Given the description of an element on the screen output the (x, y) to click on. 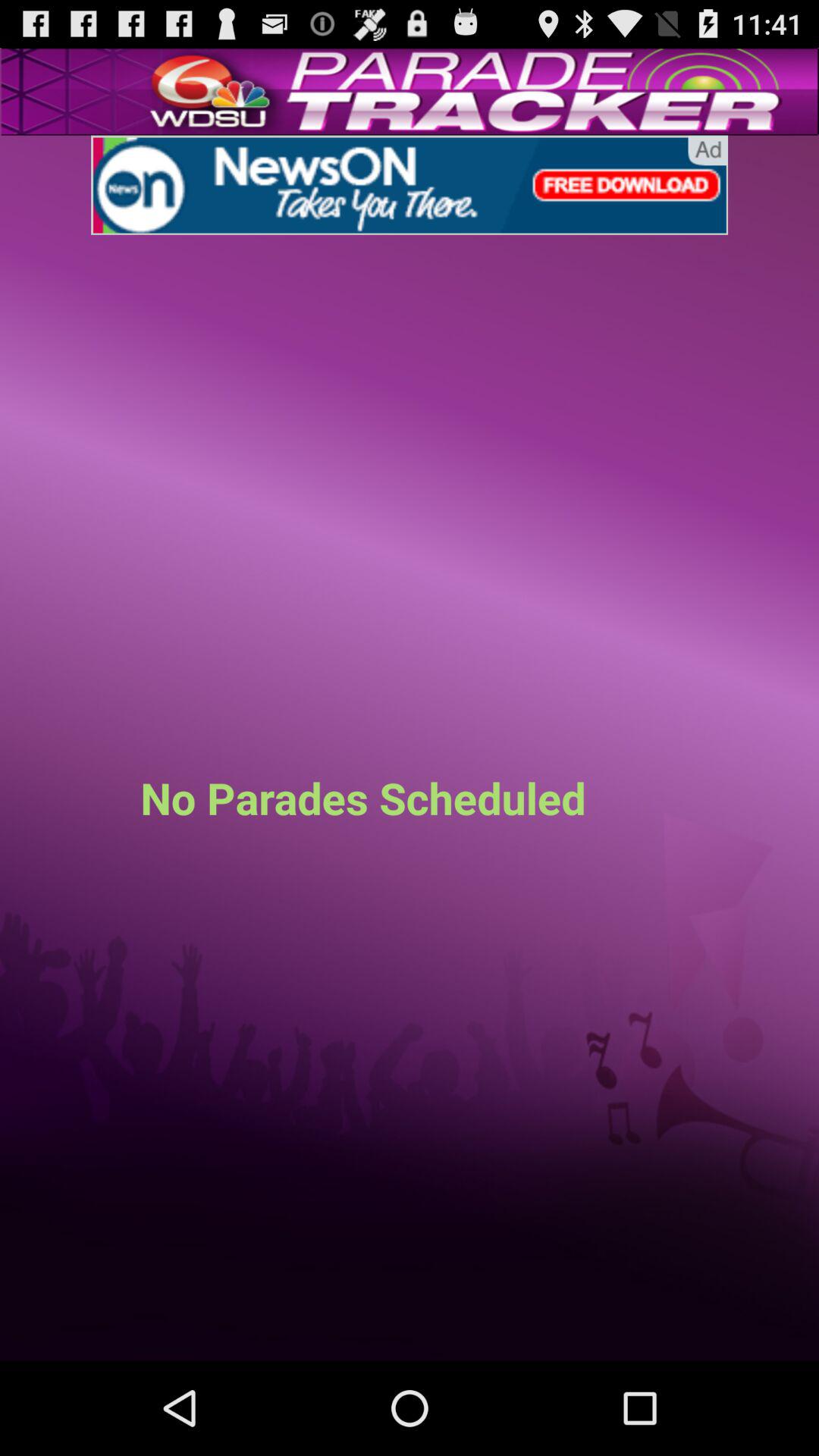
add page (409, 184)
